Given the description of an element on the screen output the (x, y) to click on. 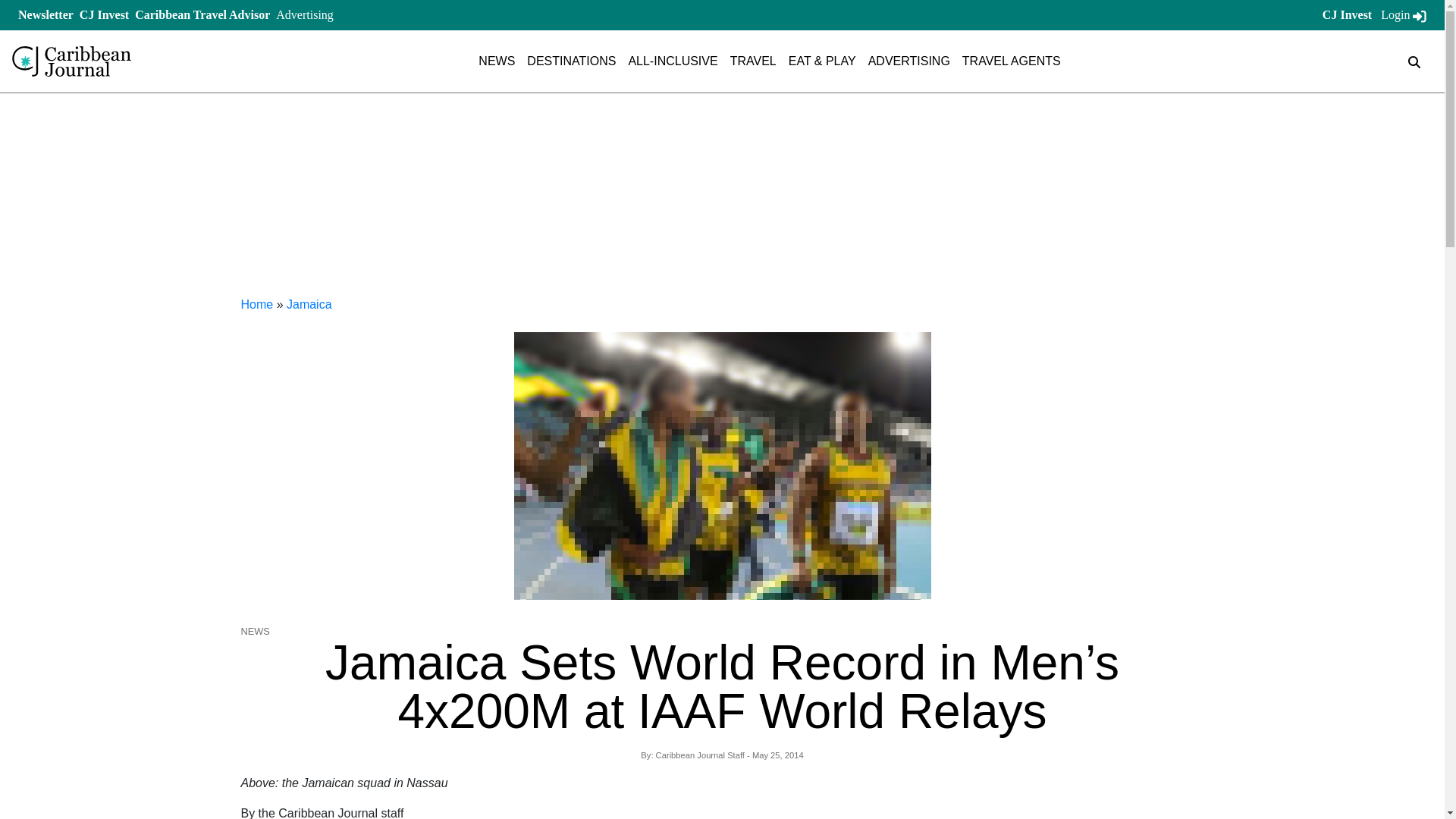
DESTINATIONS (571, 60)
Advertising (304, 14)
NEWS (497, 60)
Login (1403, 14)
Newsletter (45, 14)
ADVERTISING (908, 60)
CJ Invest (104, 14)
ALL-INCLUSIVE (672, 60)
TRAVEL (753, 60)
TRAVEL AGENTS (1011, 60)
Caribbean Travel Advisor (202, 14)
